Given the description of an element on the screen output the (x, y) to click on. 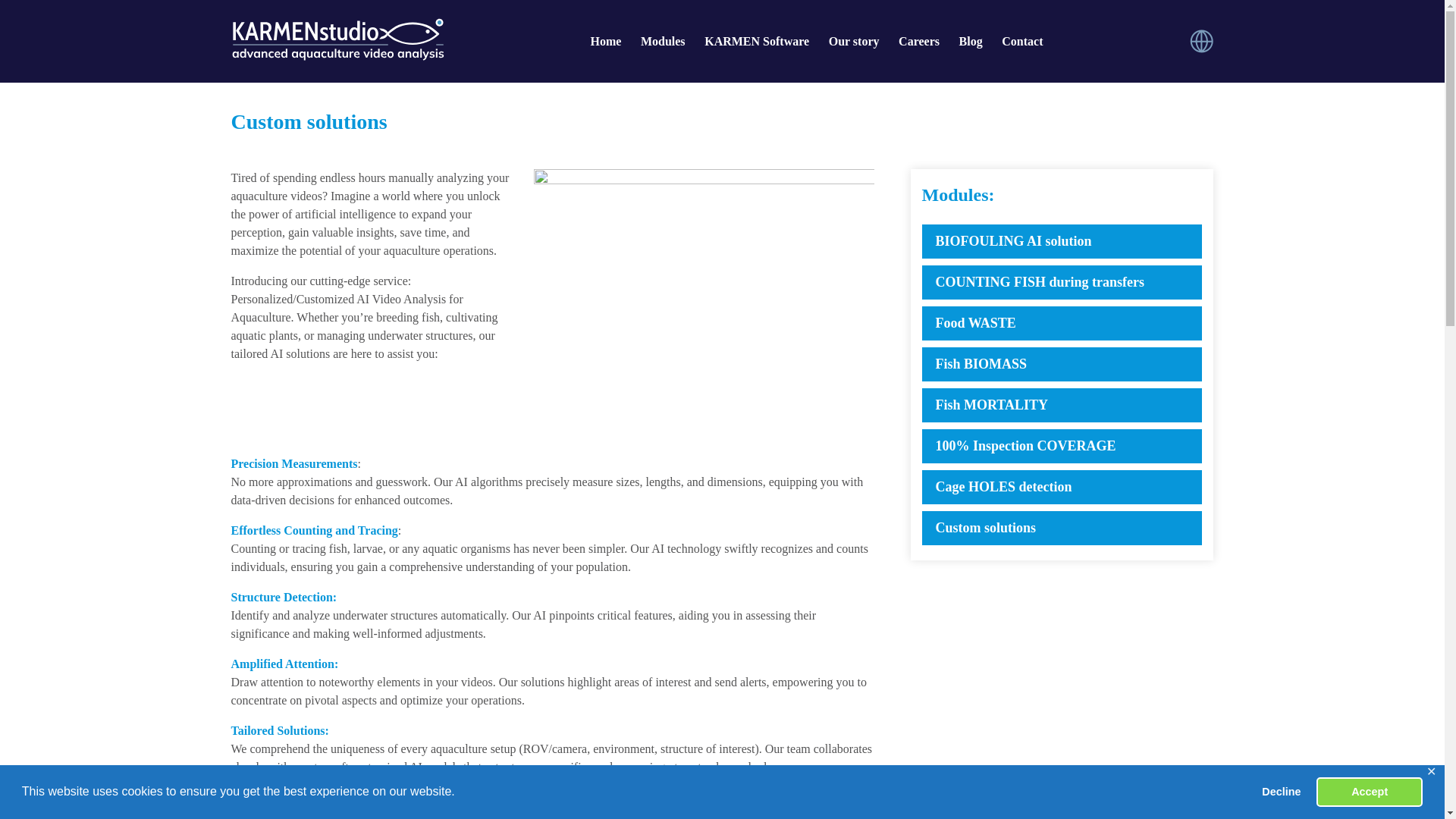
Fish BIOMASS (1061, 364)
Food WASTE (1061, 323)
BIOFOULING AI solution (1061, 241)
Home (605, 40)
Custom solutions (1061, 528)
Cage HOLES detection (1061, 487)
Blog (970, 40)
Cage HOLES detection (1061, 487)
COUNTING FISH during transfers (1061, 282)
Modules (662, 40)
Careers (918, 40)
Fish MORTALITY (1061, 405)
Fish BIOMASS (1061, 364)
Food WASTE (1061, 323)
KARMENstudio (337, 39)
